Given the description of an element on the screen output the (x, y) to click on. 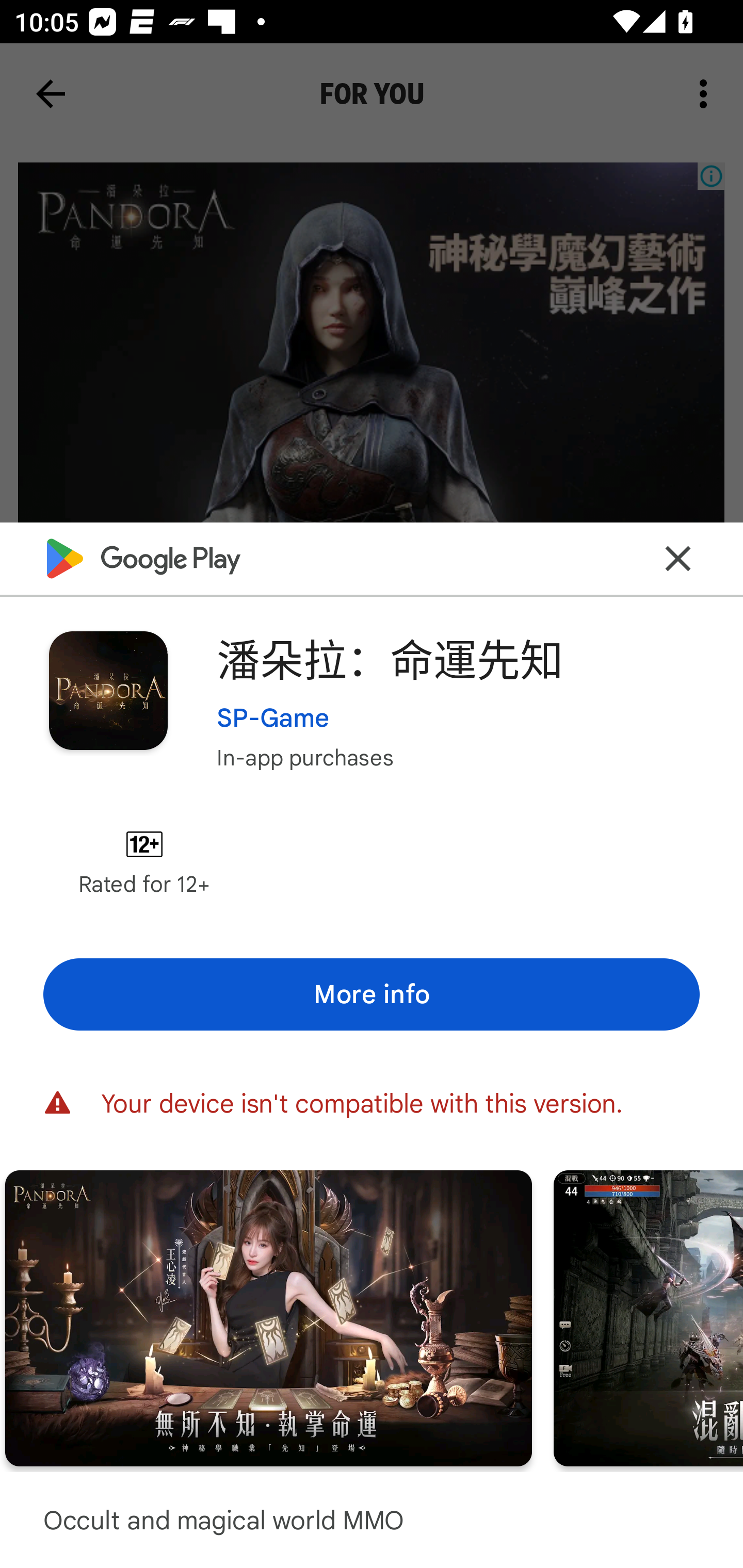
Close (677, 558)
Image of app or game icon for 潘朵拉：命運先知 (108, 690)
SP-Game (272, 716)
More info (371, 994)
Screenshot "2" of "6" (268, 1317)
